Given the description of an element on the screen output the (x, y) to click on. 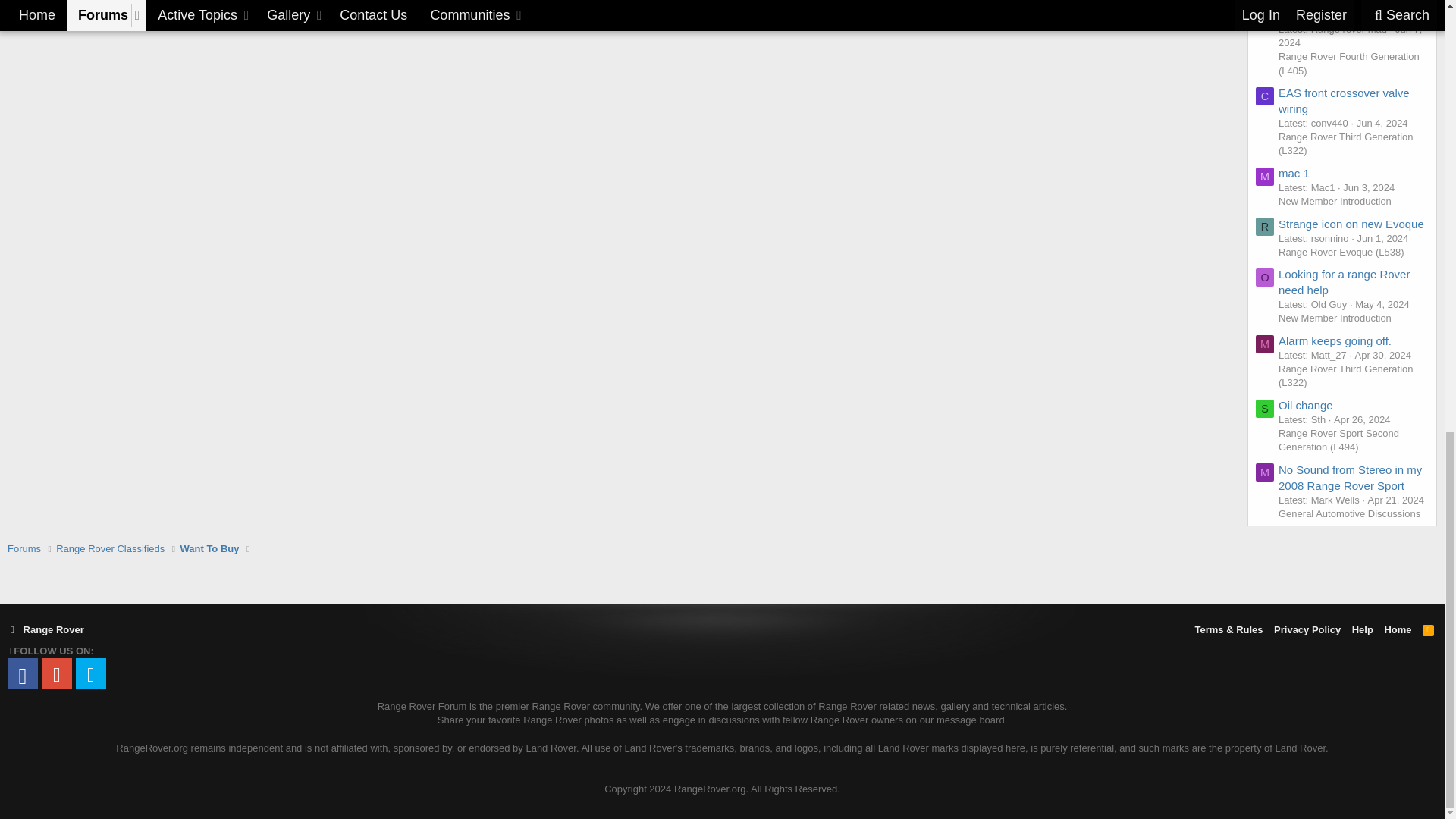
Jun 1, 2024 at 4:25 PM (1381, 238)
May 4, 2024 at 8:20 PM (1382, 304)
Jun 3, 2024 at 2:48 PM (1368, 187)
Jun 4, 2024 at 3:22 PM (1381, 122)
Jun 7, 2024 at 2:24 PM (1350, 35)
